Given the description of an element on the screen output the (x, y) to click on. 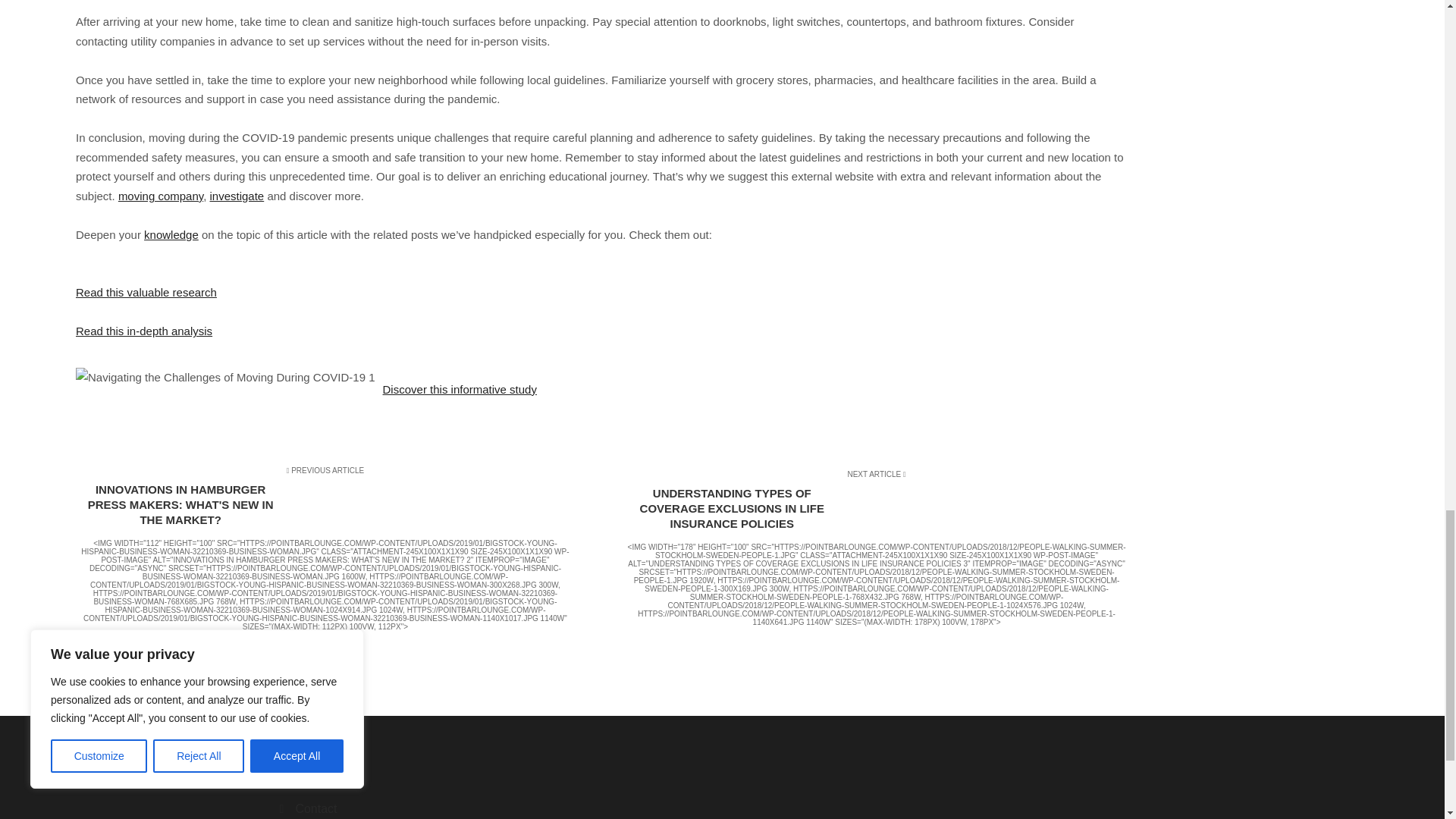
investigate (236, 195)
knowledge (171, 234)
Read this valuable research (145, 291)
moving company (160, 195)
Read this in-depth analysis (143, 330)
Discover this informative study (459, 389)
